Given the description of an element on the screen output the (x, y) to click on. 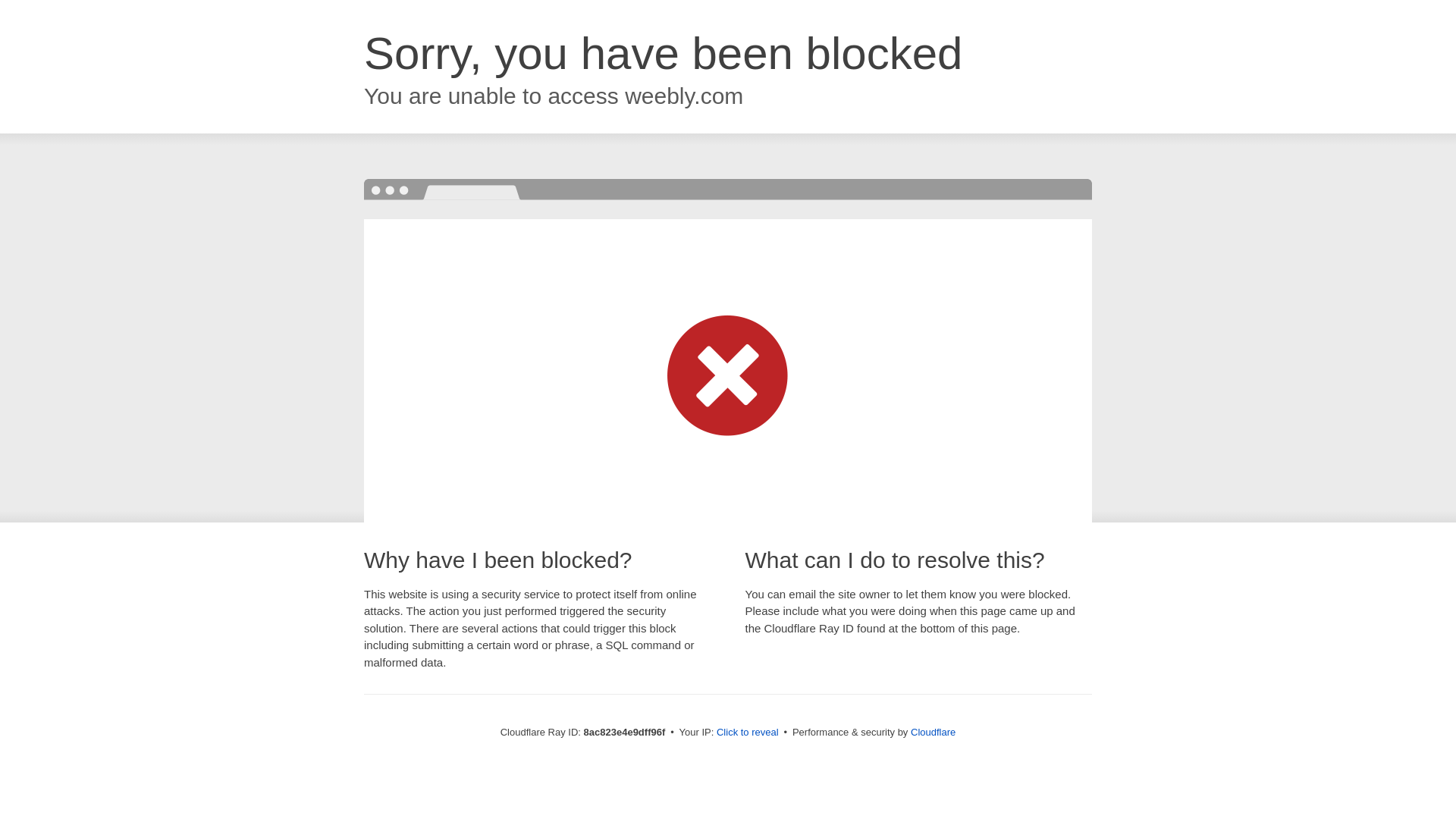
Click to reveal (747, 732)
Cloudflare (933, 731)
